Given the description of an element on the screen output the (x, y) to click on. 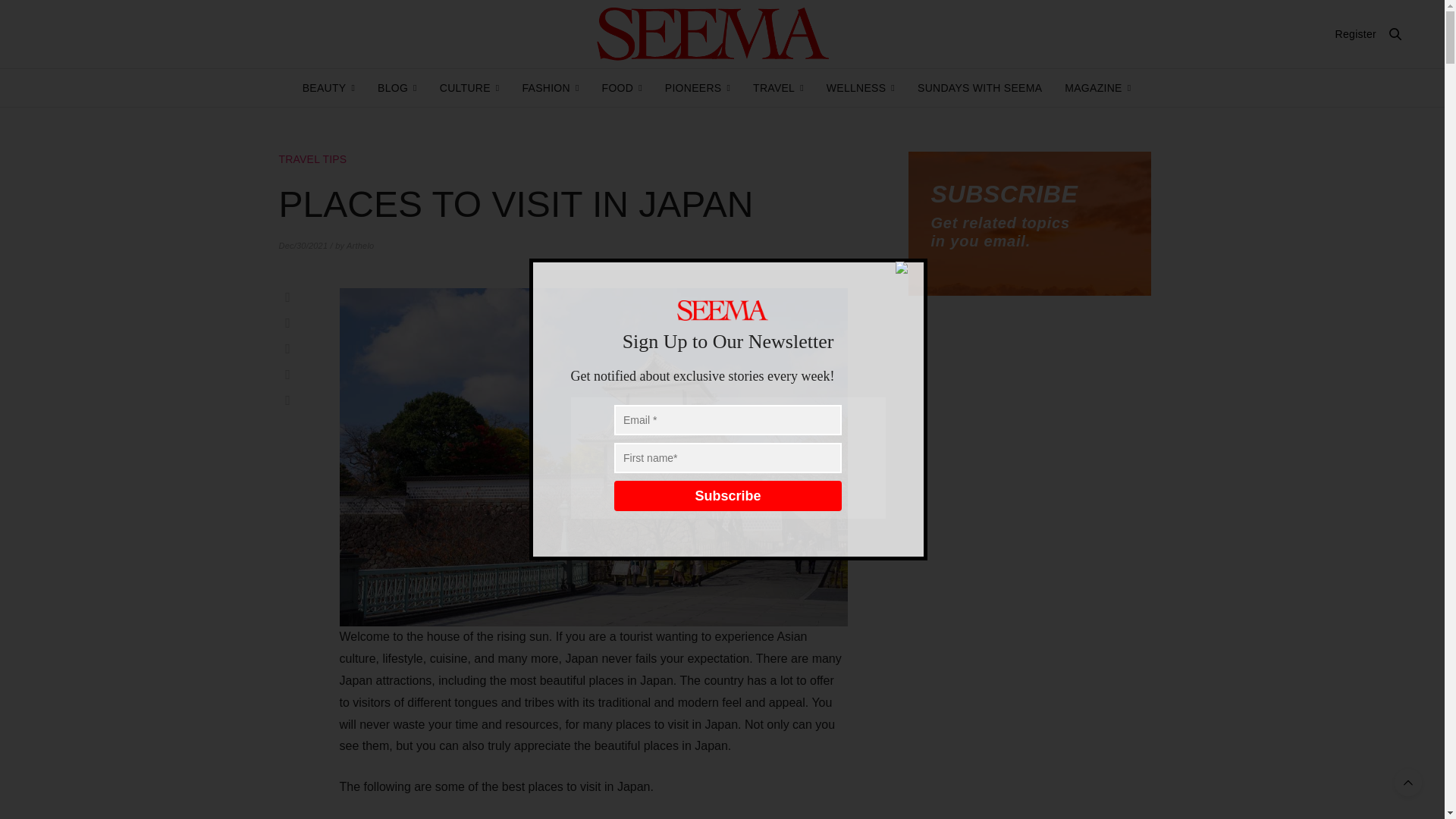
FOOD (622, 87)
BEAUTY (328, 87)
Seema (712, 33)
MAGAZINE (1097, 87)
TRAVEL (777, 87)
CULTURE (469, 87)
Scroll To Top (1408, 782)
FASHION (549, 87)
Close (909, 268)
Register (1355, 33)
